Given the description of an element on the screen output the (x, y) to click on. 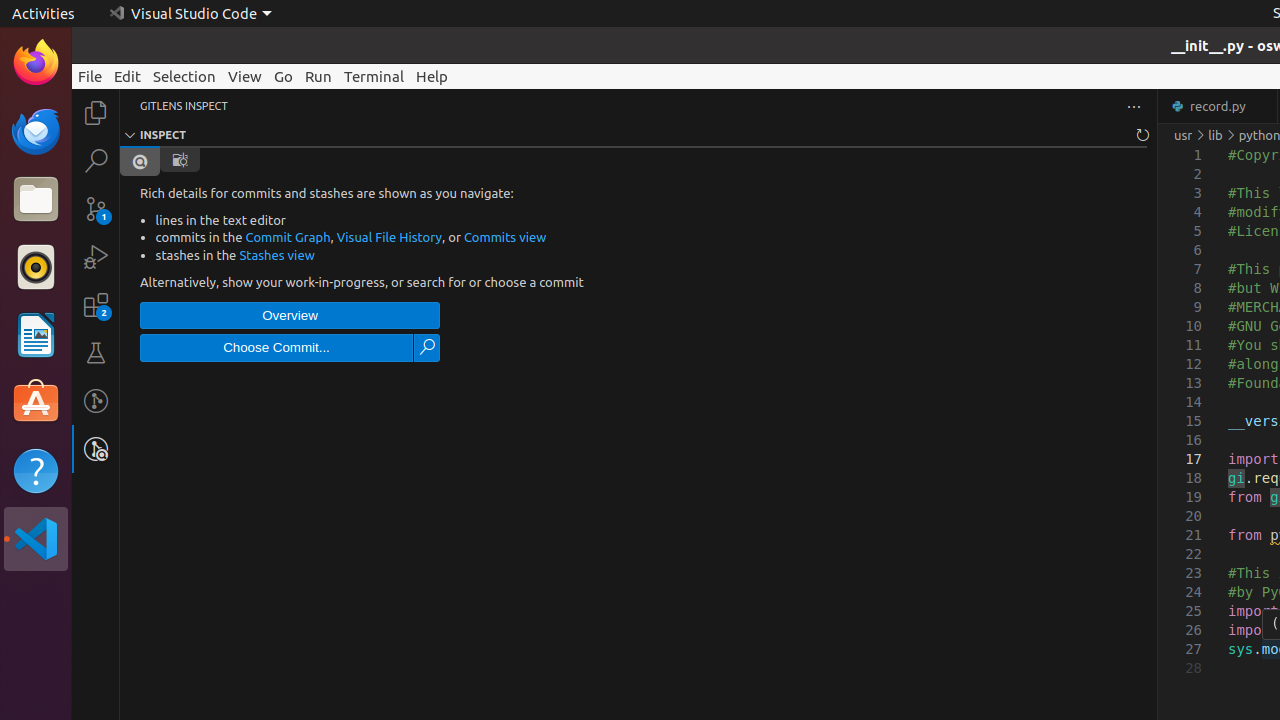
Testing Element type: page-tab (96, 353)
Choose Commit... Element type: push-button (276, 348)
Commit Graph Element type: link (288, 237)
